Given the description of an element on the screen output the (x, y) to click on. 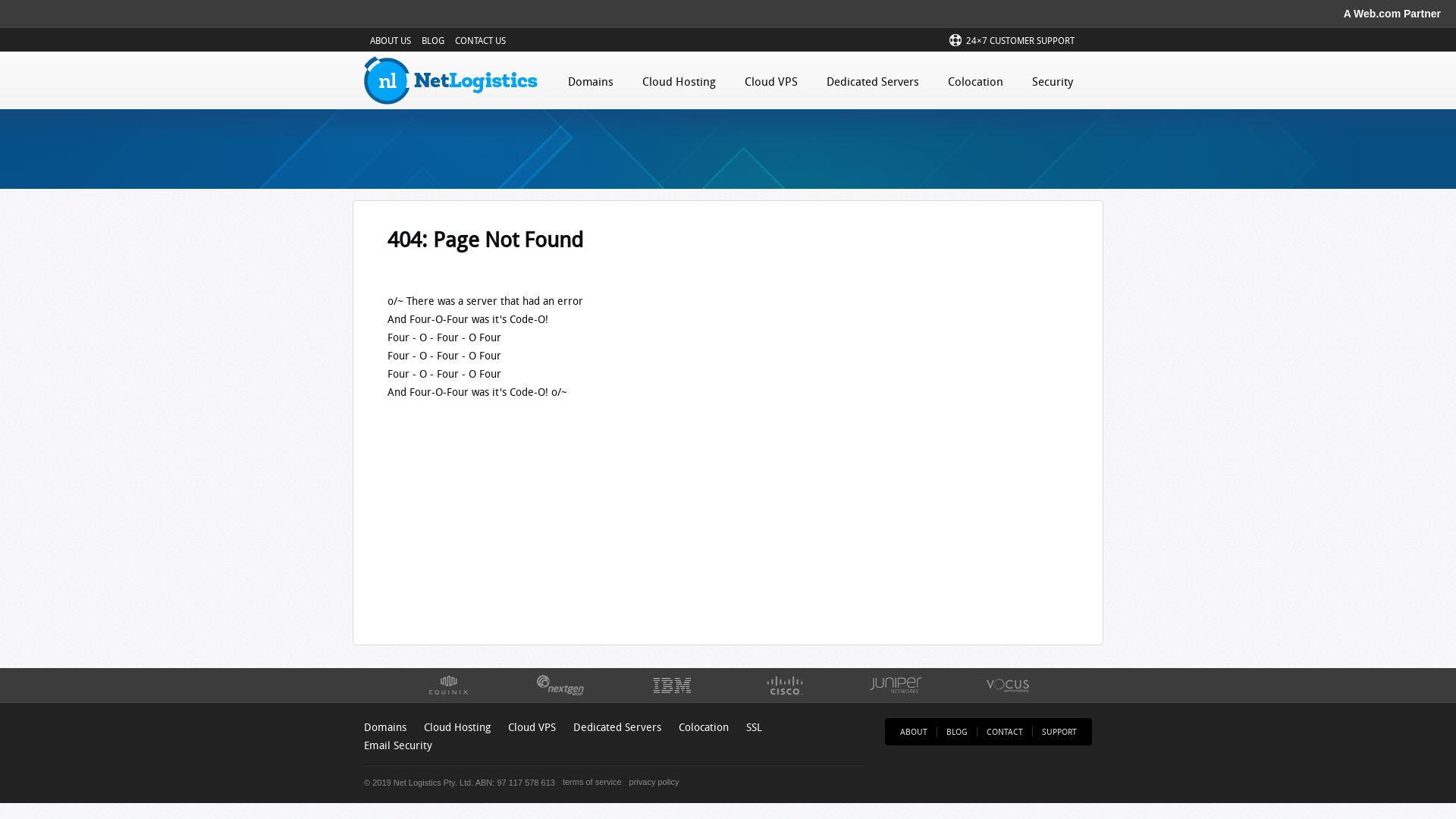
ABOUT Element type: text (913, 730)
BLOG Element type: text (956, 730)
Security Element type: text (1052, 78)
Dedicated Servers Element type: text (617, 725)
SUPPORT Element type: text (1058, 730)
Domains Element type: text (590, 78)
Cloud Hosting Element type: text (678, 78)
CONTACT Element type: text (1004, 730)
Dedicated Servers Element type: text (872, 78)
privacy policy Element type: text (650, 780)
Email Security Element type: text (398, 744)
Cloud VPS Element type: text (770, 78)
BLOG Element type: text (432, 40)
Colocation Element type: text (975, 78)
terms of service Element type: text (588, 780)
ABOUT US Element type: text (390, 40)
SSL Element type: text (754, 725)
Domains Element type: text (385, 725)
Colocation Element type: text (703, 725)
Cloud VPS Element type: text (531, 725)
CONTACT US Element type: text (480, 40)
Cloud Hosting Element type: text (456, 725)
